Given the description of an element on the screen output the (x, y) to click on. 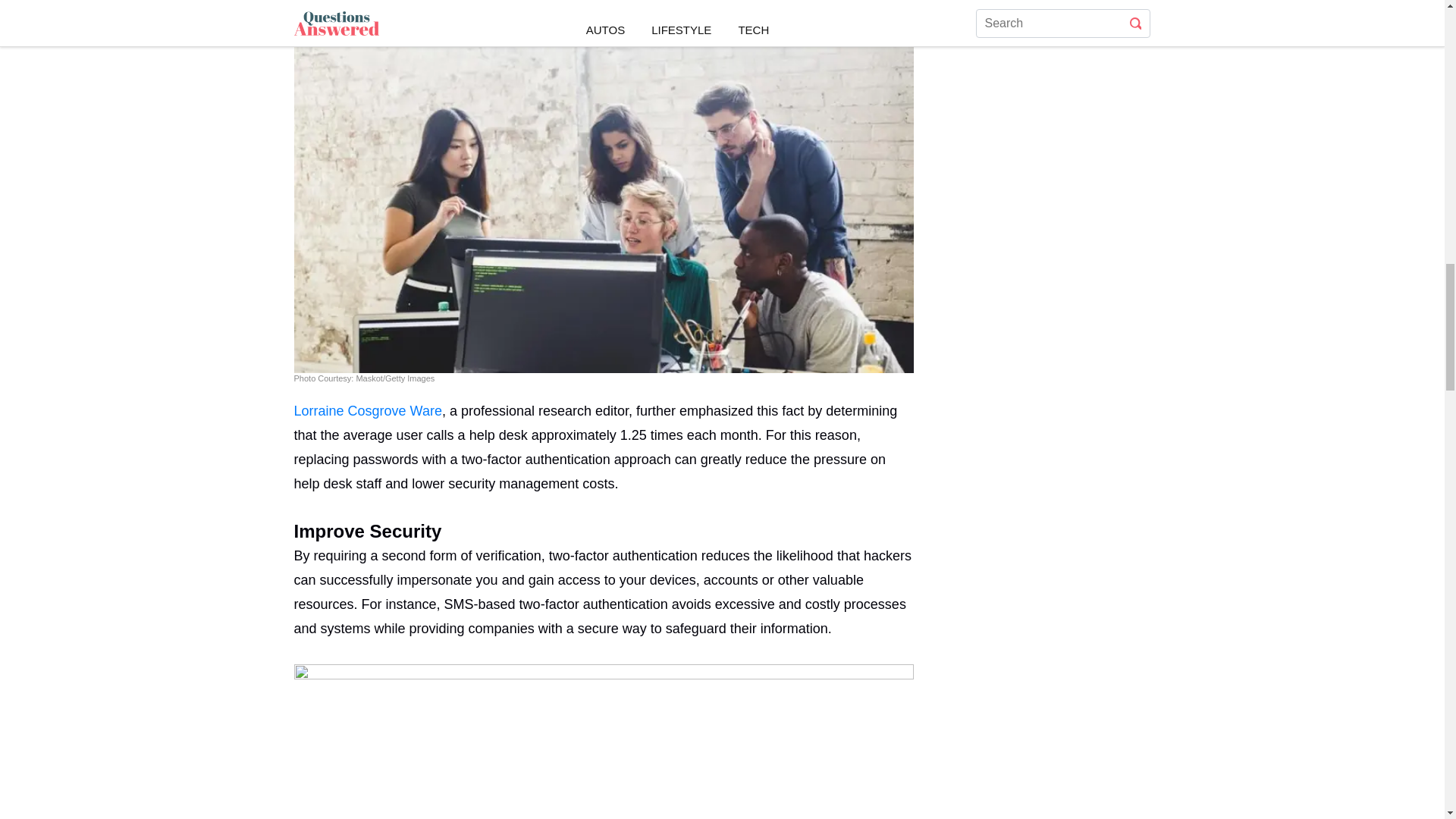
Lorraine Cosgrove Ware (368, 410)
